Given the description of an element on the screen output the (x, y) to click on. 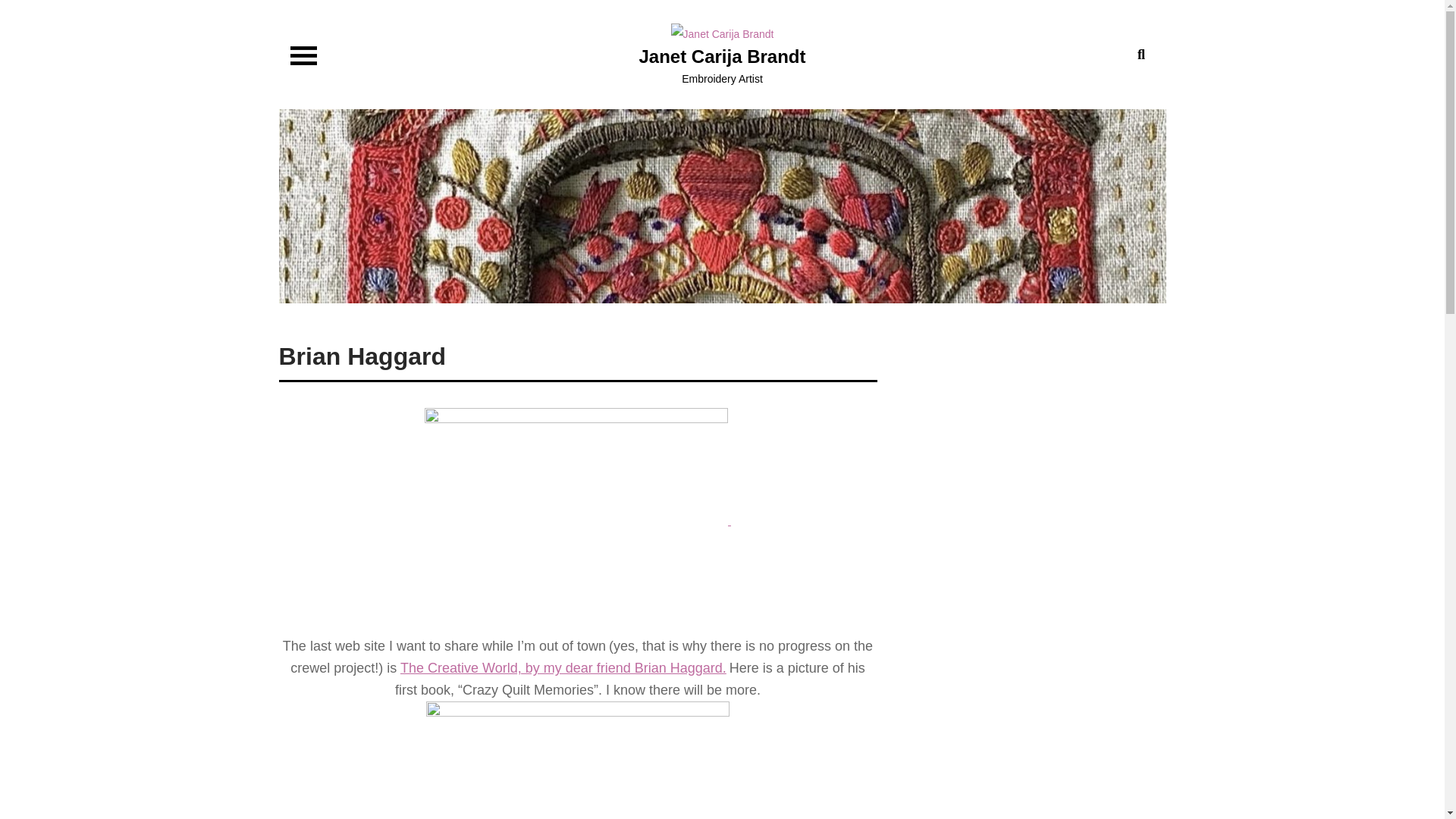
Janet Carija Brandt (722, 55)
The Creative World, by my dear friend Brian Haggard. (563, 667)
